Given the description of an element on the screen output the (x, y) to click on. 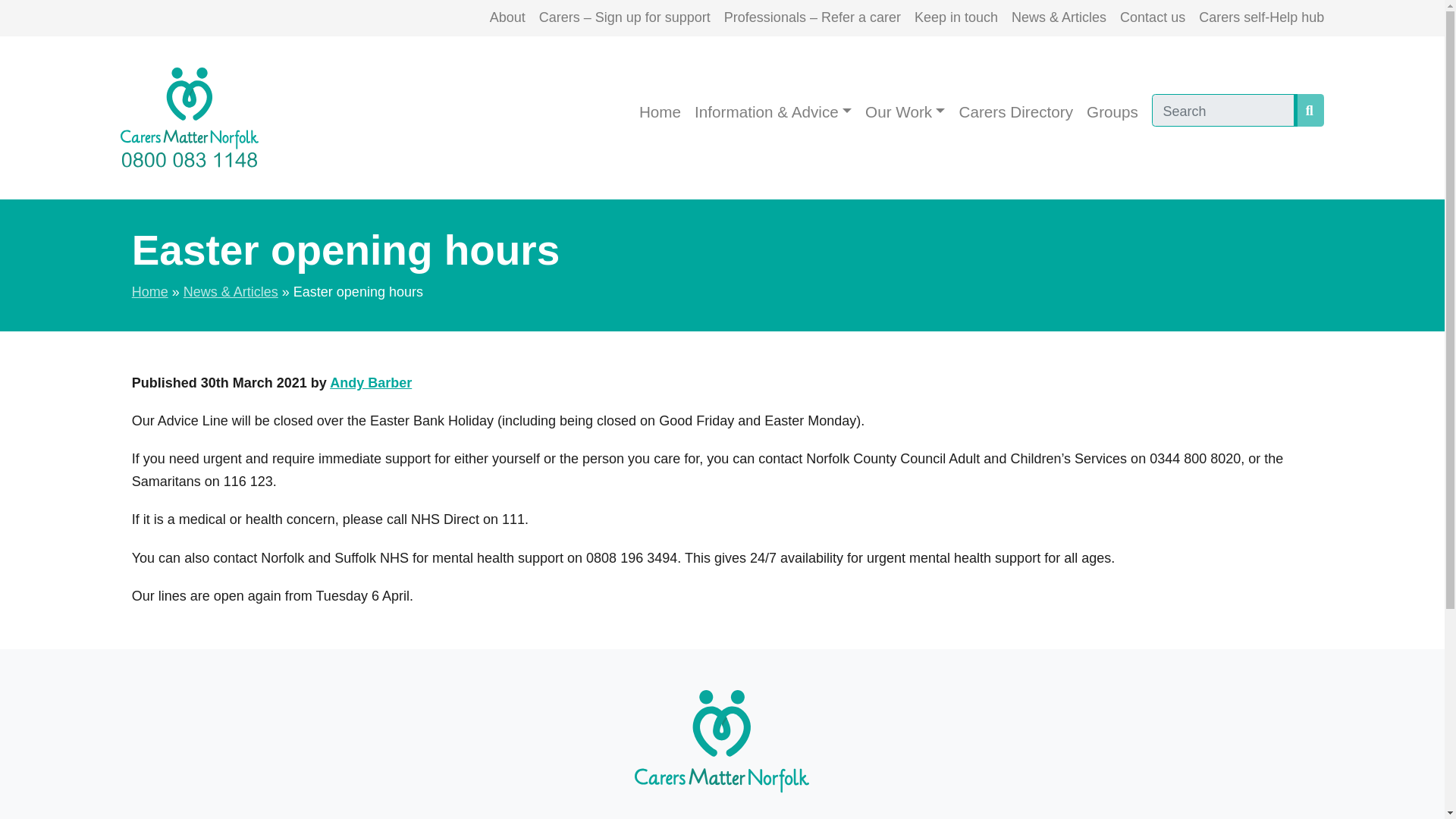
Our Work (905, 111)
Contact us (1152, 18)
Home (659, 111)
Carers self-Help hub (1260, 18)
Keep in touch (955, 18)
Carers - Sign up for support (624, 18)
About (507, 18)
Keep in touch (955, 18)
Home (659, 111)
Carers self-Help hub (1260, 18)
About (507, 18)
Contact us (1152, 18)
